Given the description of an element on the screen output the (x, y) to click on. 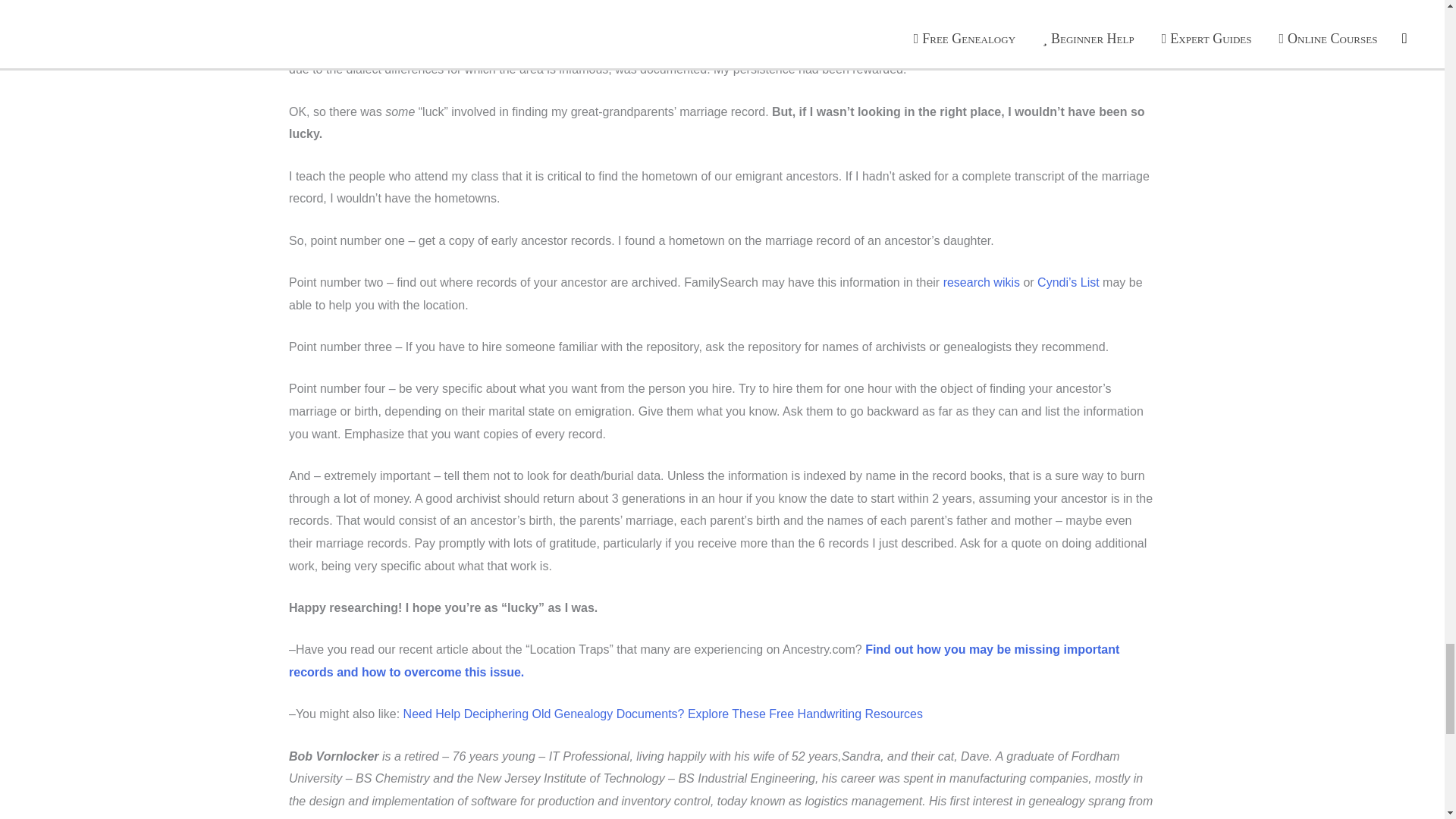
research wikis (981, 282)
